Given the description of an element on the screen output the (x, y) to click on. 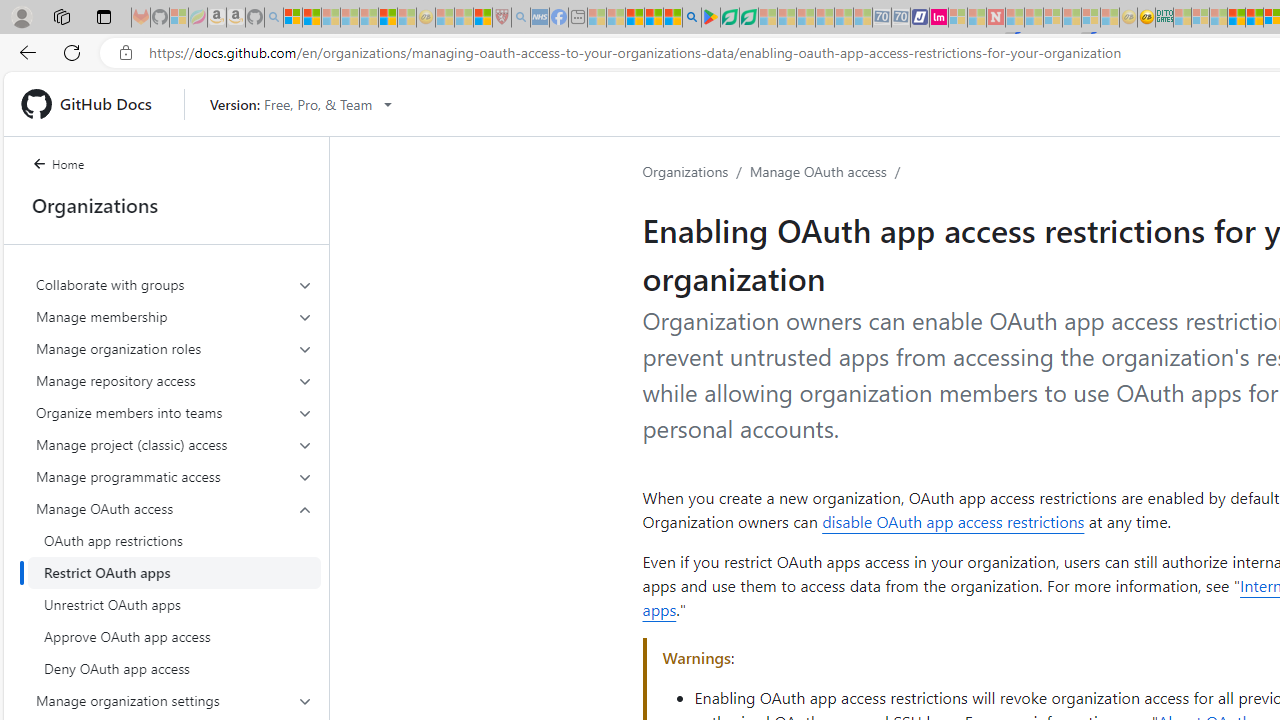
Unrestrict OAuth apps (174, 604)
Approve OAuth app access (174, 636)
Trusted Community Engagement and Contributions | Guidelines (1014, 17)
OAuth app restrictions (174, 540)
google - Search (692, 17)
DITOGAMES AG Imprint (1163, 17)
14 Common Myths Debunked By Scientific Facts - Sleeping (1034, 17)
Microsoft Word - consumer-privacy address update 2.2021 (748, 17)
Pets - MSN (654, 17)
